Given the description of an element on the screen output the (x, y) to click on. 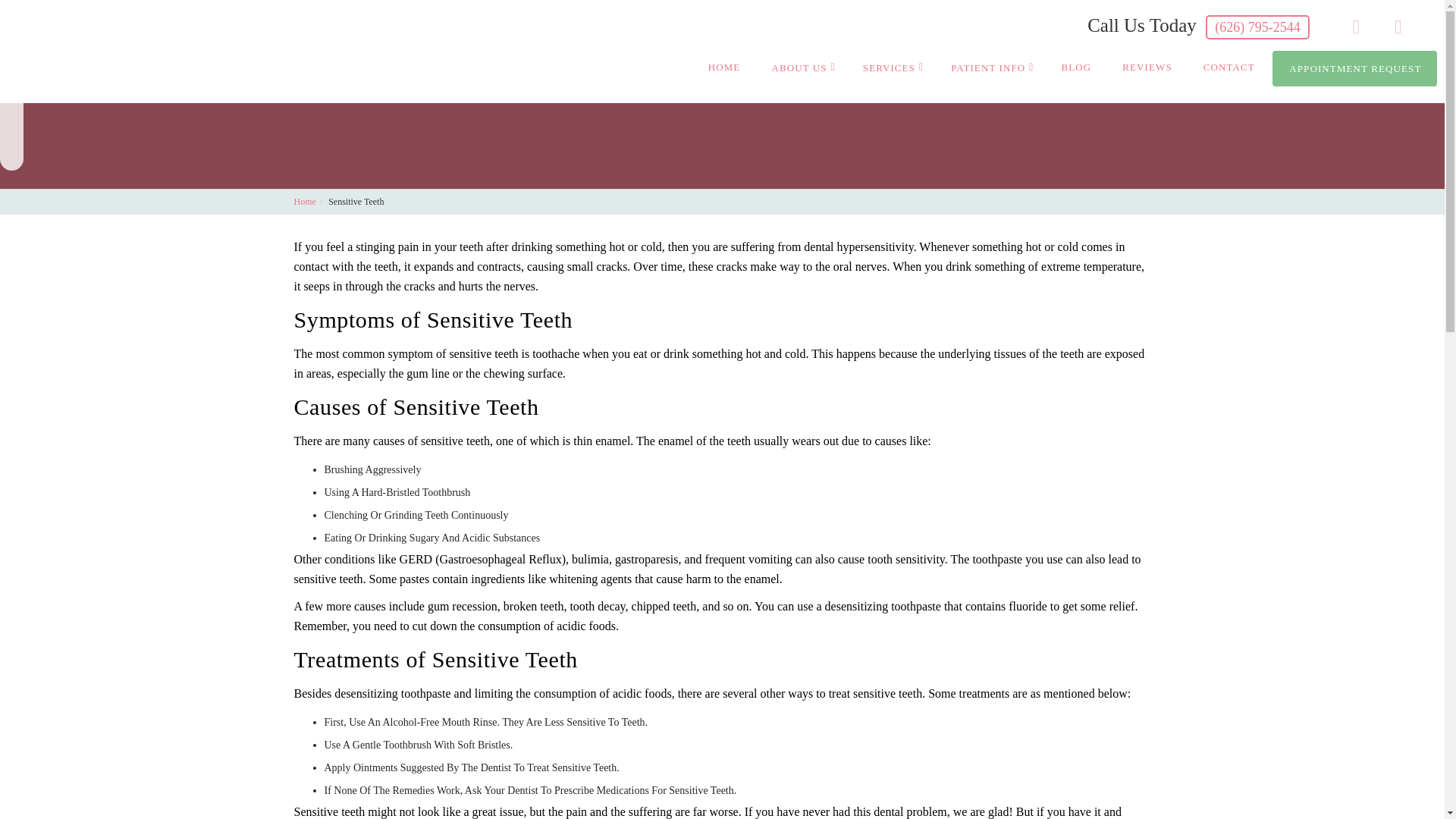
PATIENT INFO (990, 67)
SERVICES (890, 67)
ABOUT US (800, 67)
HOME (724, 66)
